Given the description of an element on the screen output the (x, y) to click on. 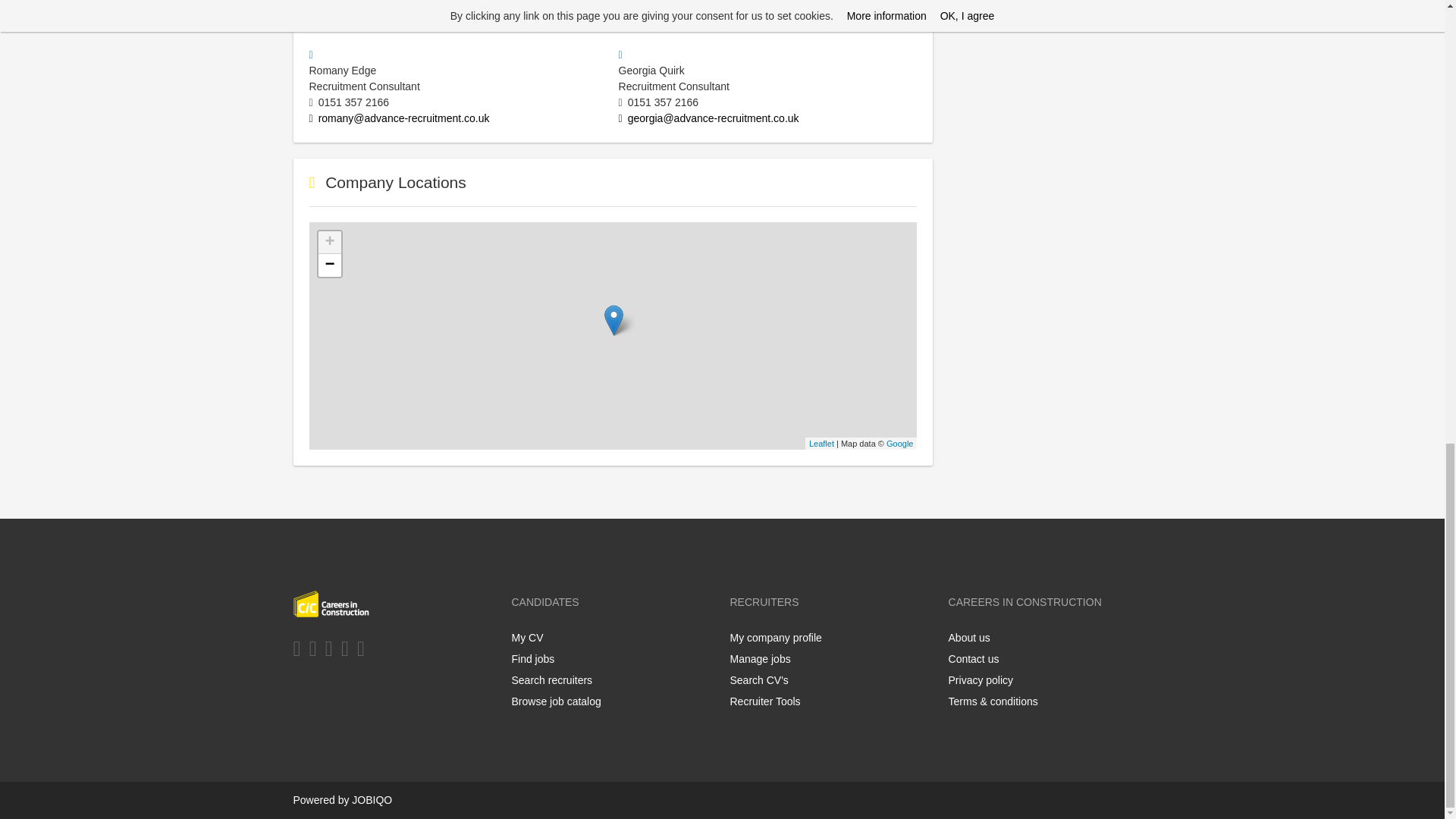
A JS library for interactive maps (821, 442)
Google (899, 442)
Leaflet (821, 442)
Zoom out (329, 264)
Zoom in (329, 241)
